Given the description of an element on the screen output the (x, y) to click on. 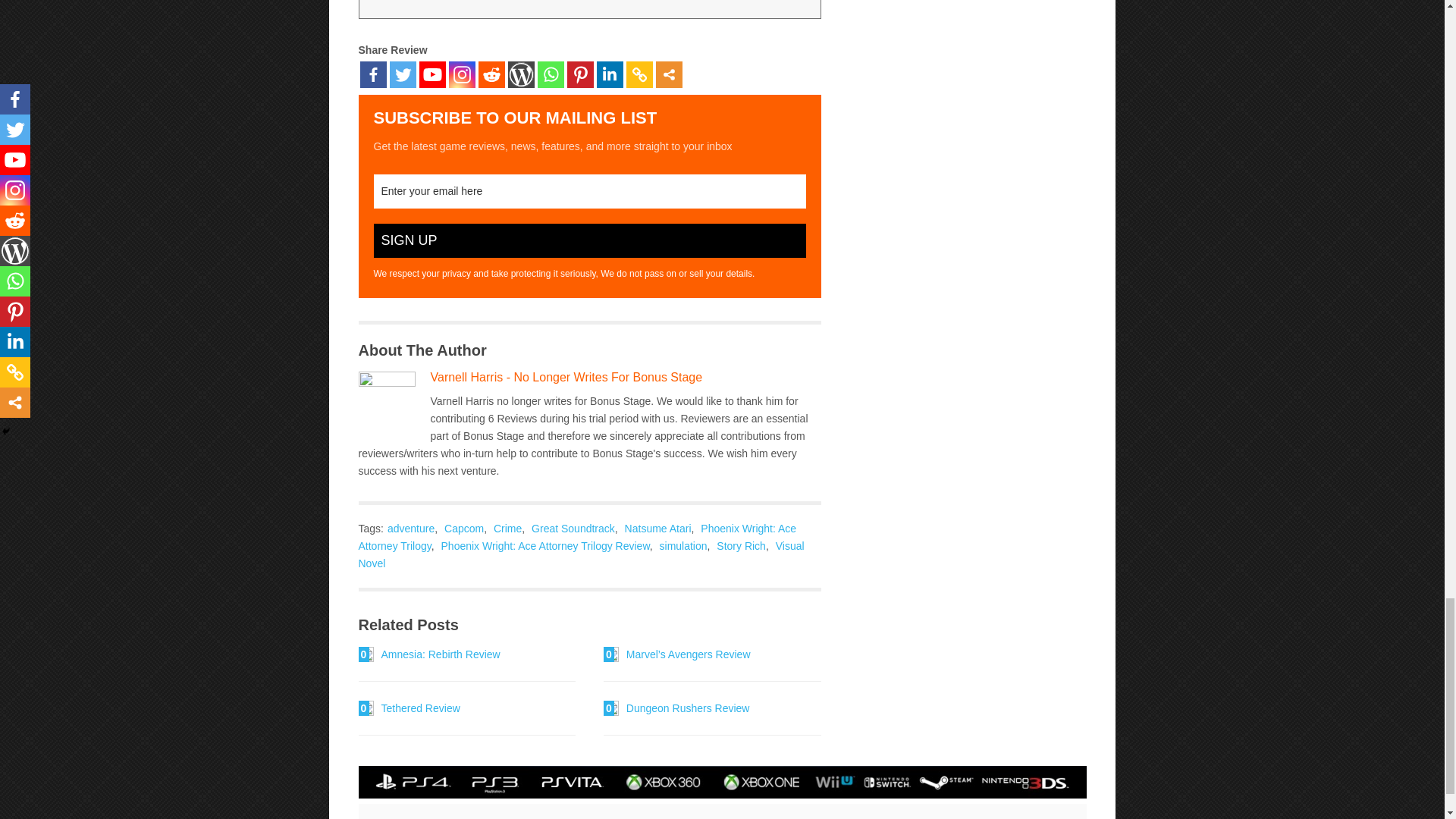
Sign Up (588, 240)
